Given the description of an element on the screen output the (x, y) to click on. 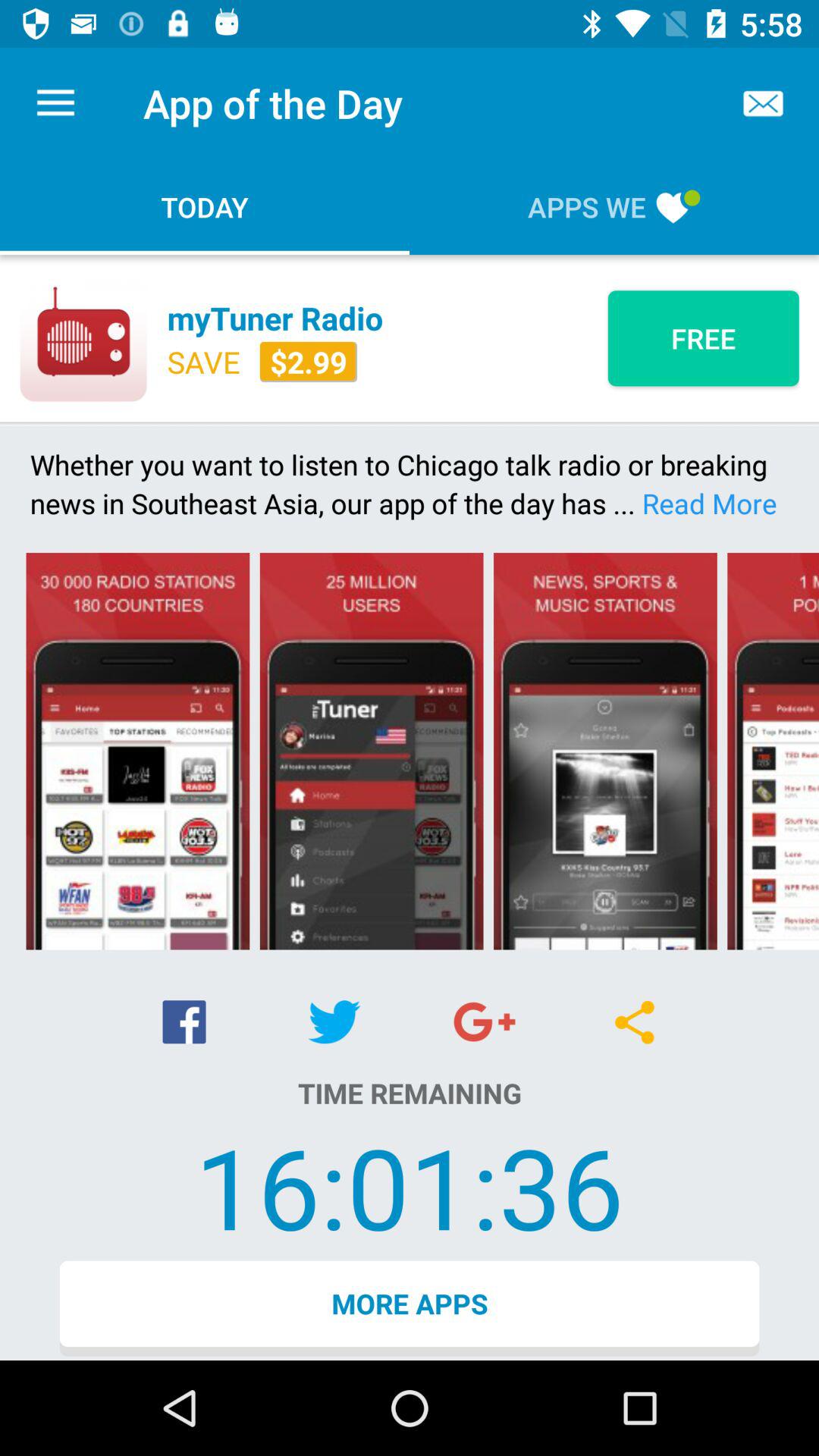
select the message box (763, 103)
